Given the description of an element on the screen output the (x, y) to click on. 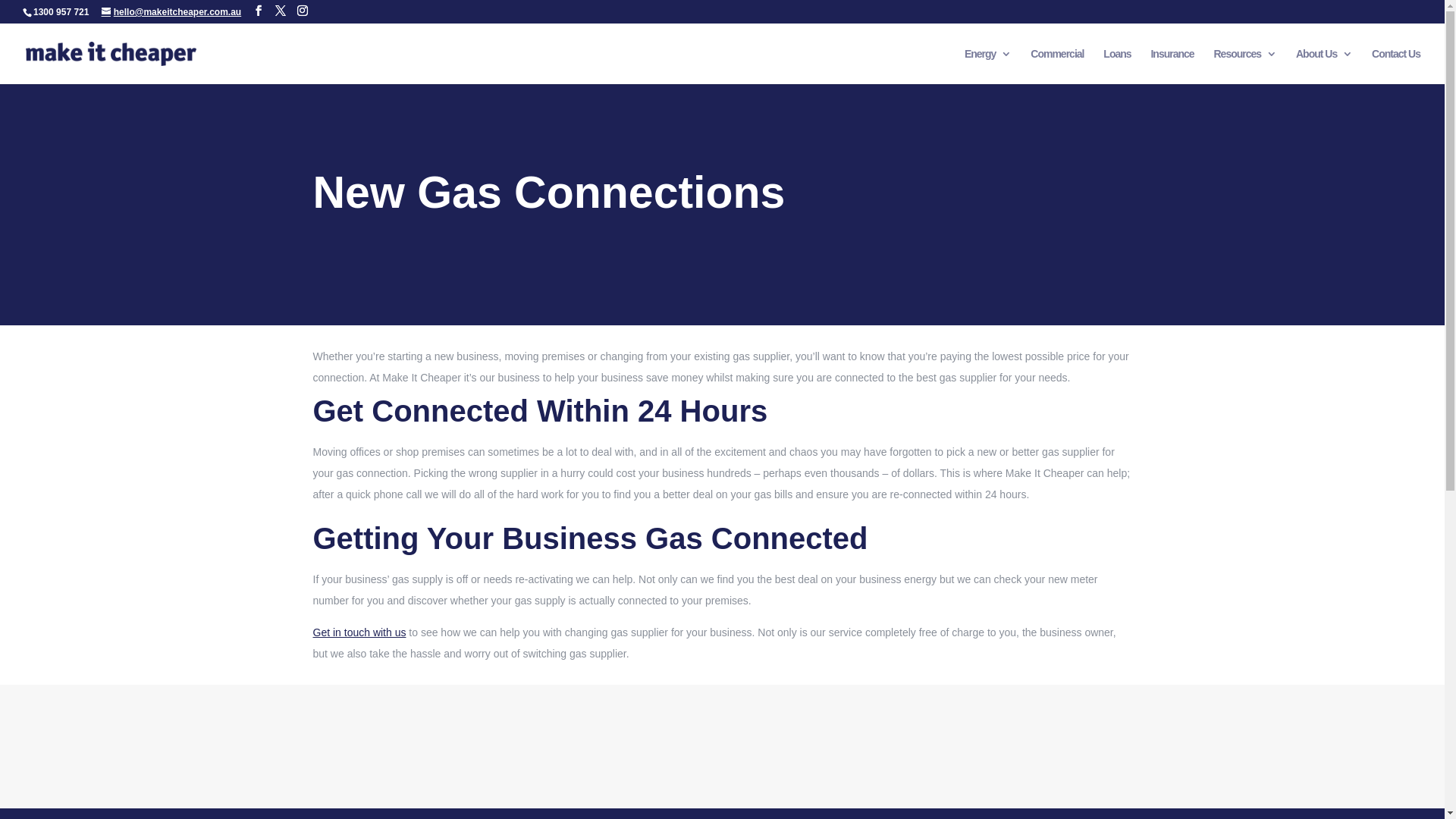
Loans Element type: text (1116, 66)
Contact Us Element type: text (1395, 66)
About Us Element type: text (1323, 66)
Insurance Element type: text (1171, 66)
Commercial Element type: text (1056, 66)
Energy Element type: text (987, 66)
Get in touch with us Element type: text (358, 632)
hello@makeitcheaper.com.au Element type: text (171, 11)
Resources Element type: text (1244, 66)
